Given the description of an element on the screen output the (x, y) to click on. 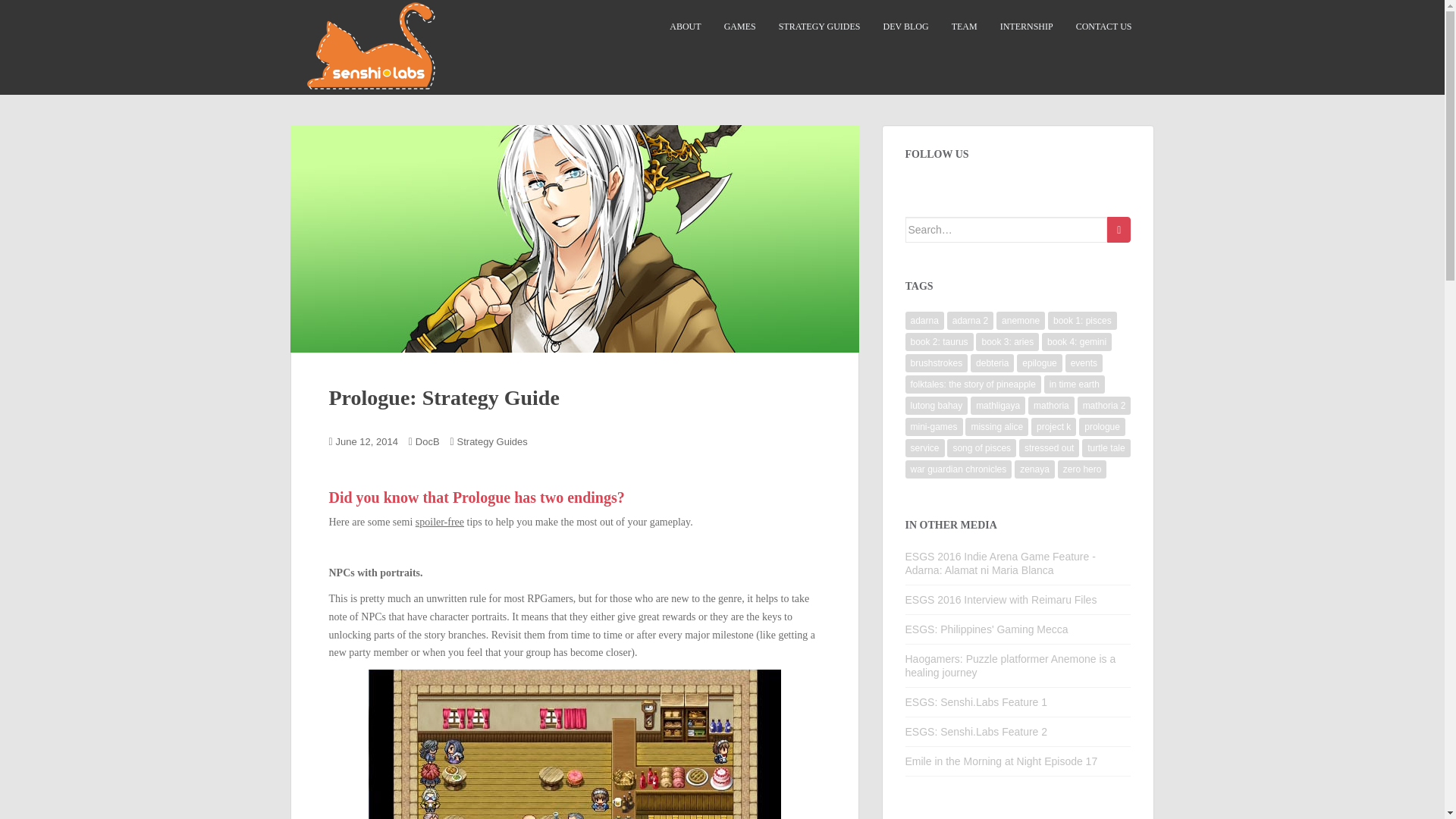
DocB (426, 441)
mathligaya (998, 405)
DEV BLOG (905, 26)
adarna 2 (969, 321)
INTERNSHIP (1026, 26)
epilogue (1038, 362)
book 1: pisces (1082, 321)
lutong bahay (936, 405)
debteria (992, 362)
anemone (1020, 321)
